Given the description of an element on the screen output the (x, y) to click on. 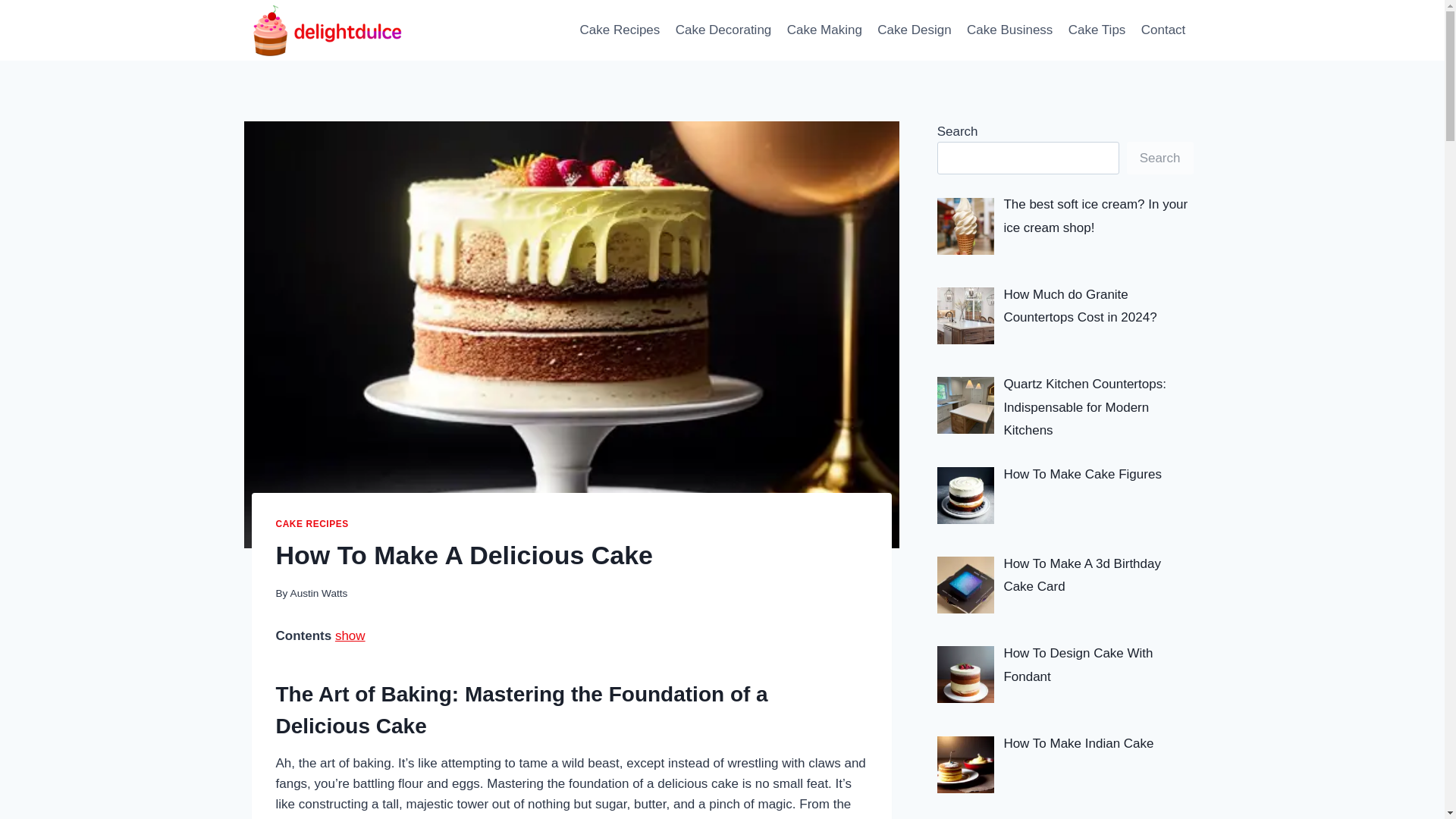
Cake Recipes (619, 30)
CAKE RECIPES (312, 523)
Cake Making (824, 30)
show (349, 635)
Cake Design (914, 30)
Cake Business (1010, 30)
Austin Watts (318, 593)
Cake Decorating (722, 30)
Cake Tips (1097, 30)
Contact (1163, 30)
